Given the description of an element on the screen output the (x, y) to click on. 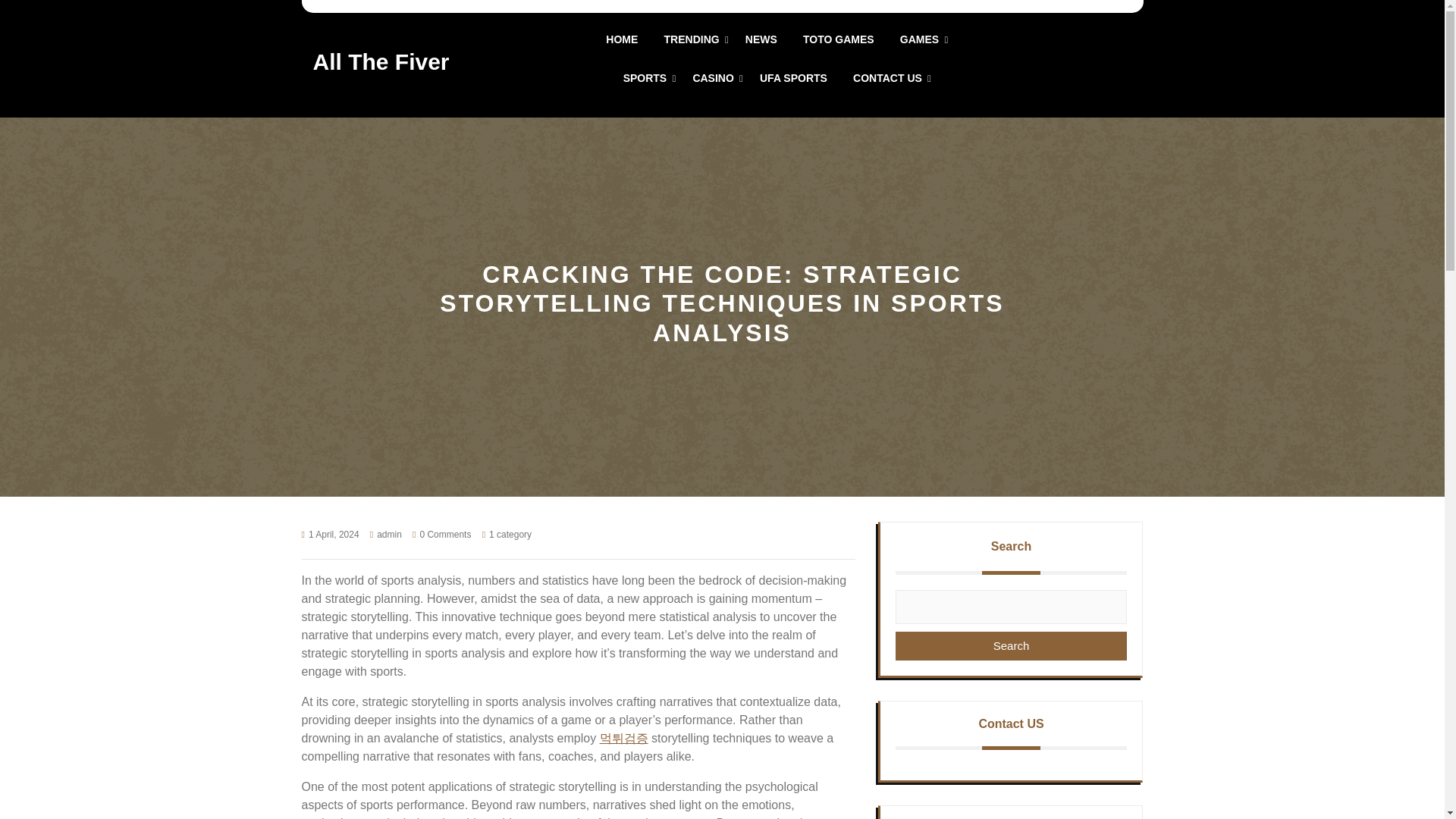
TOTO GAMES (839, 39)
CONTACT US (887, 78)
UFA SPORTS (793, 78)
Search (1010, 645)
NEWS (761, 39)
GAMES (919, 39)
All The Fiver (380, 61)
SPORTS (644, 78)
CASINO (713, 78)
TRENDING (691, 39)
HOME (621, 39)
